Given the description of an element on the screen output the (x, y) to click on. 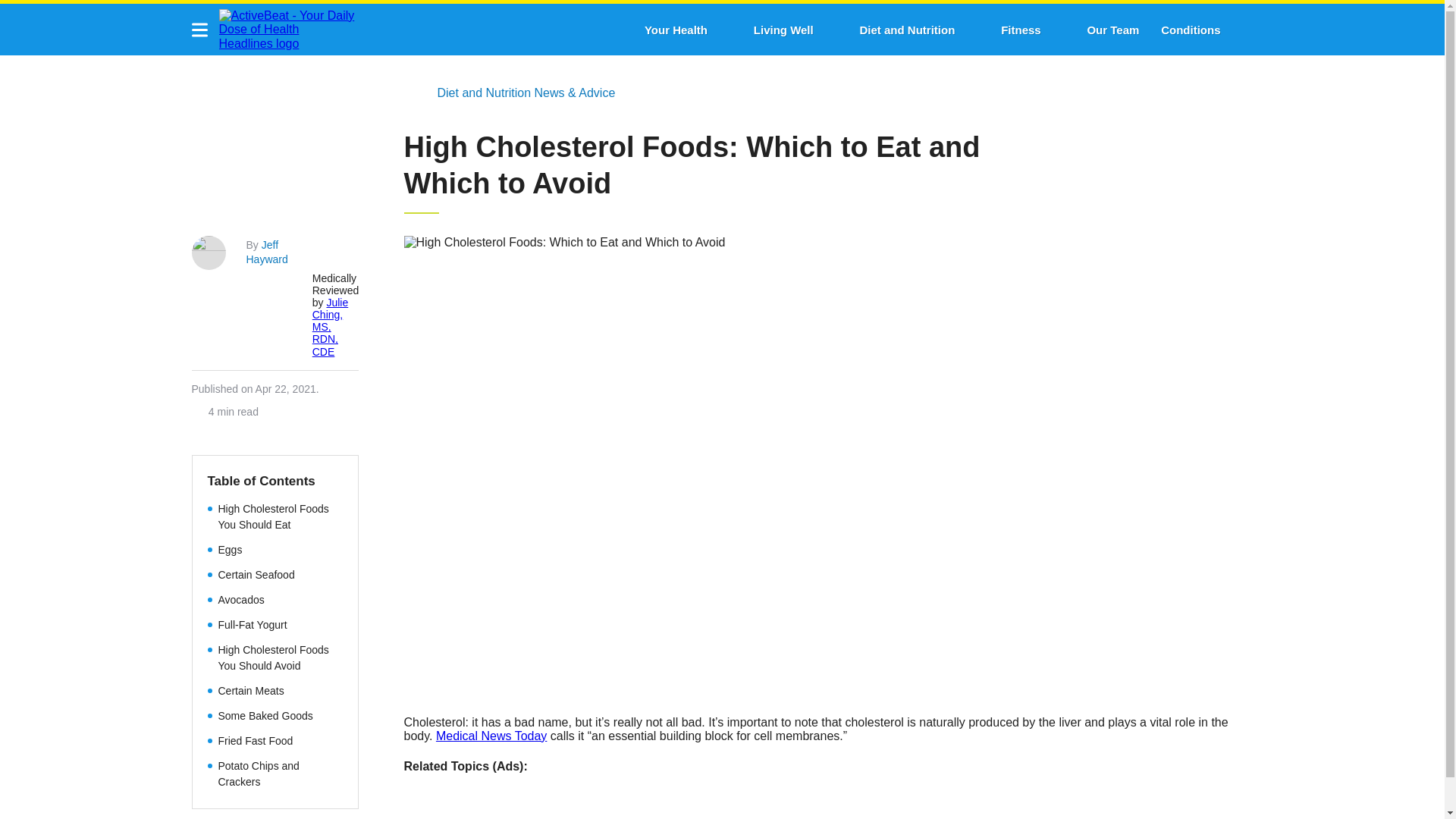
Your Health (676, 29)
